Given the description of an element on the screen output the (x, y) to click on. 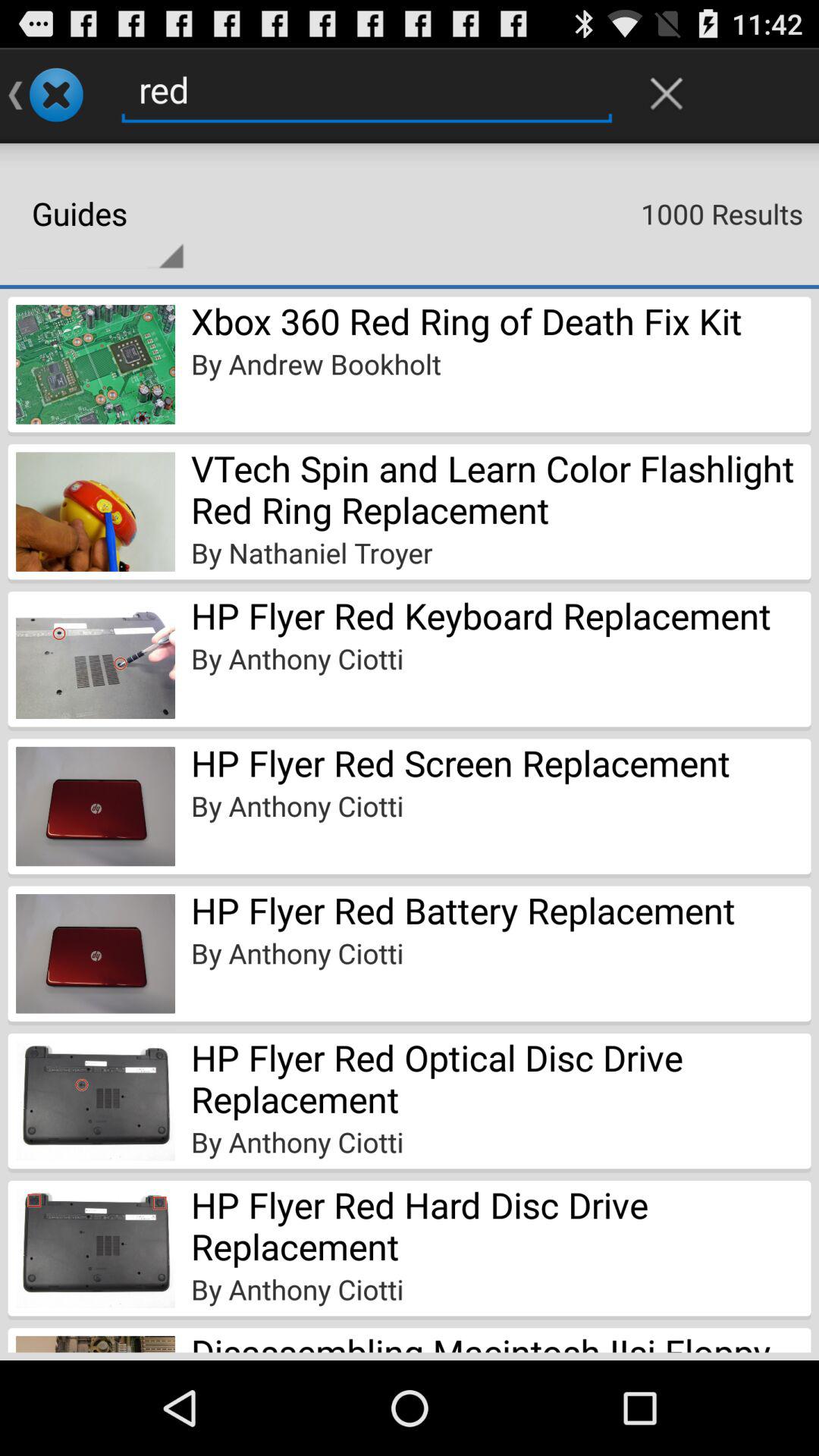
launch item above the 1000 results (666, 93)
